Given the description of an element on the screen output the (x, y) to click on. 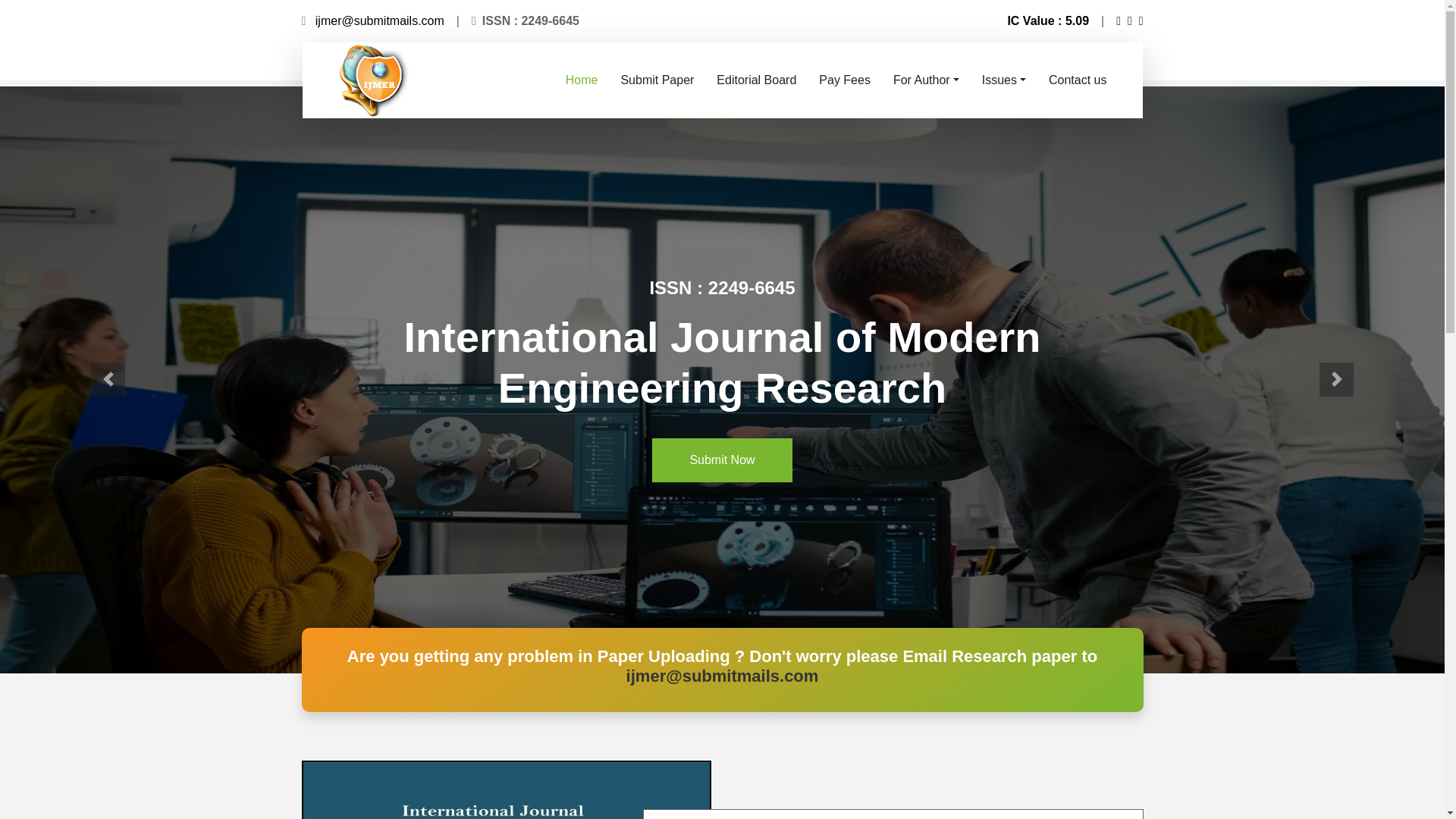
Contact us (1077, 80)
Submit Paper (656, 80)
For Author (926, 80)
Submit Now (722, 460)
Pay Fees (845, 80)
Issues (1003, 80)
IC Value : 5.09 (1048, 20)
Editorial Board (756, 80)
